Given the description of an element on the screen output the (x, y) to click on. 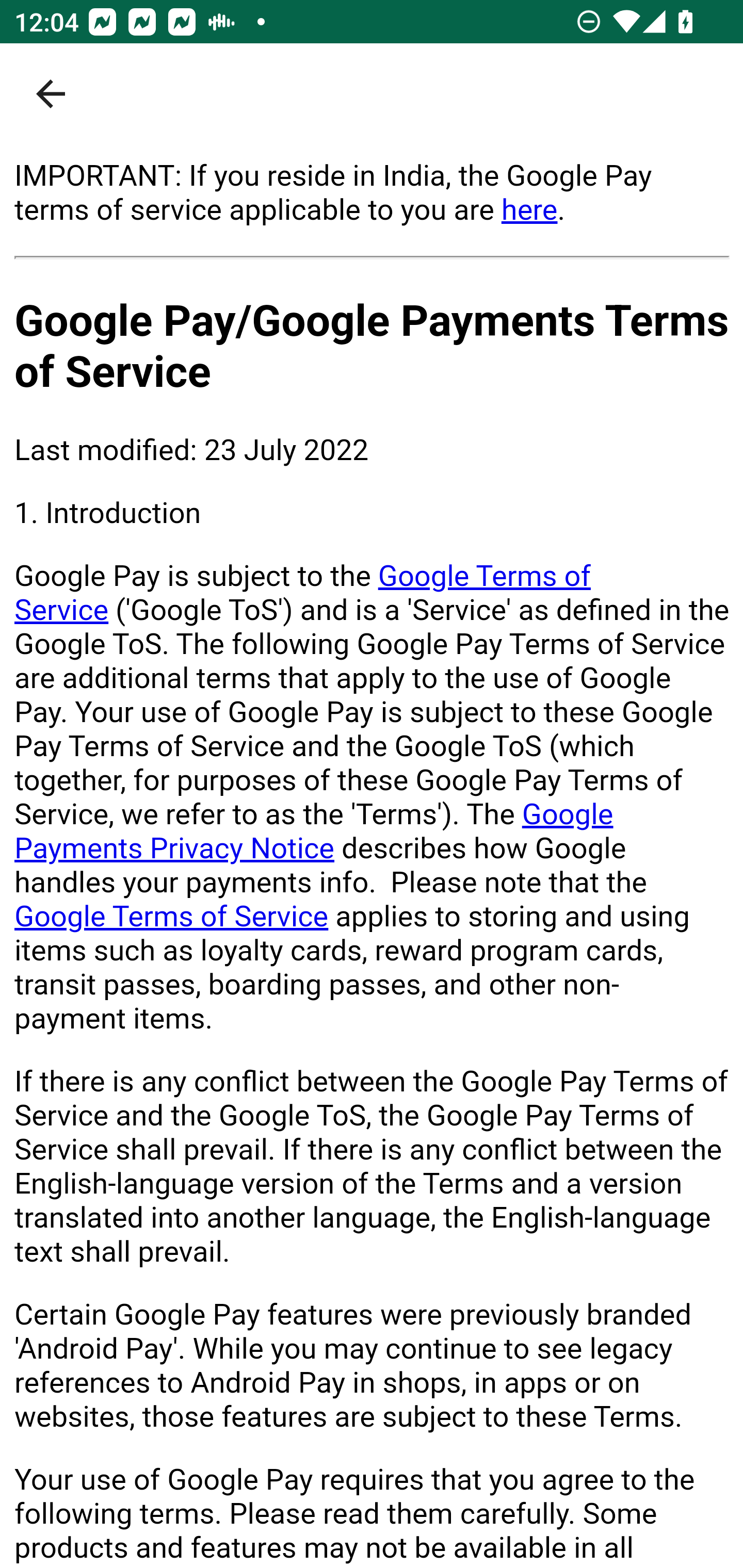
Navigate up (50, 93)
here (528, 209)
Google Terms of Service (303, 593)
Google Payments Privacy Notice (313, 831)
Google Terms of Service (171, 916)
